Given the description of an element on the screen output the (x, y) to click on. 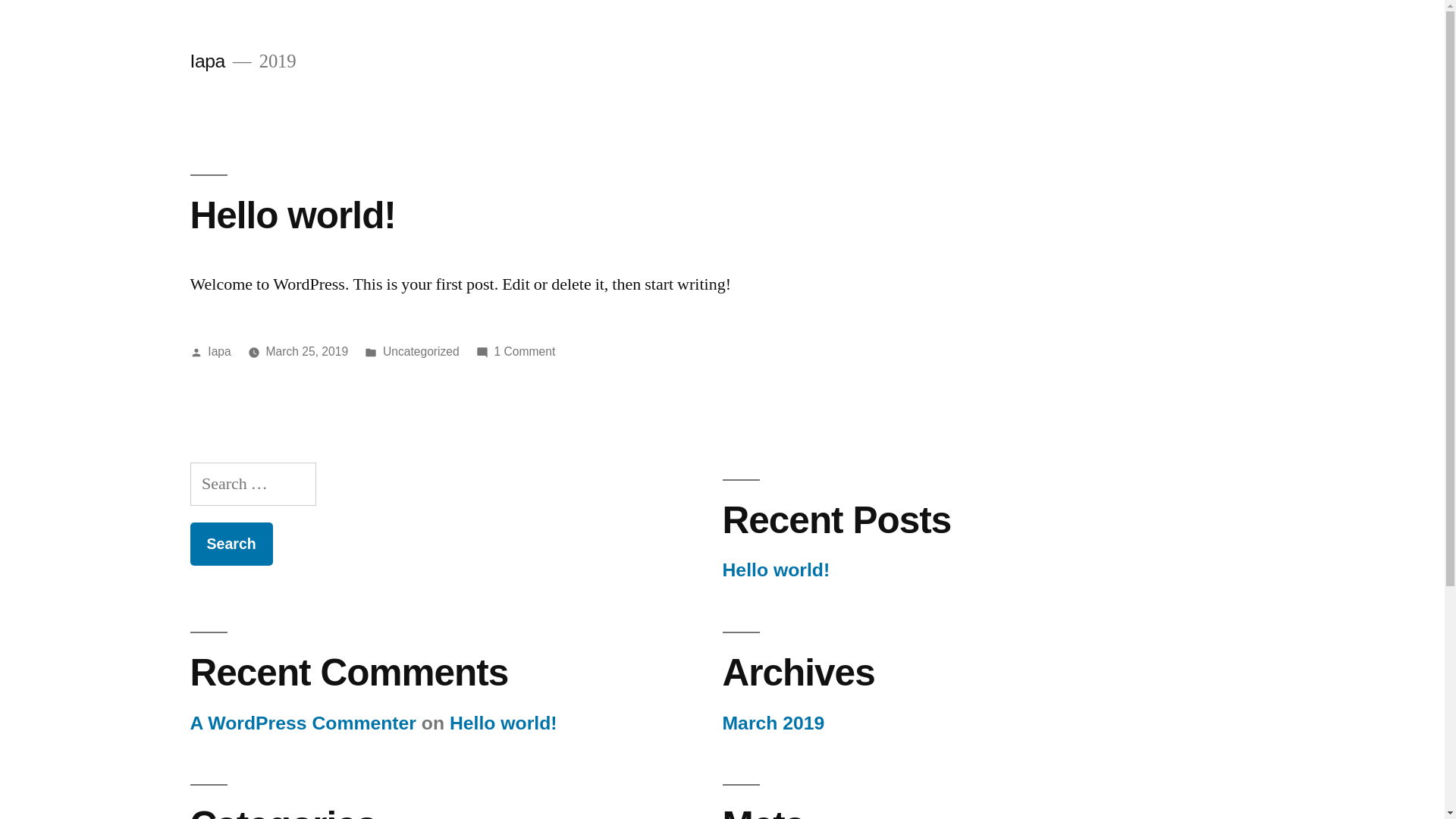
A WordPress Commenter Element type: text (302, 722)
Hello world! Element type: text (503, 722)
Hello world! Element type: text (292, 214)
Iapa Element type: text (218, 351)
March 25, 2019 Element type: text (307, 351)
Search Element type: text (230, 543)
Iapa Element type: text (206, 60)
Uncategorized Element type: text (420, 351)
1 Comment
on Hello world! Element type: text (524, 351)
March 2019 Element type: text (772, 722)
Hello world! Element type: text (775, 569)
